Given the description of an element on the screen output the (x, y) to click on. 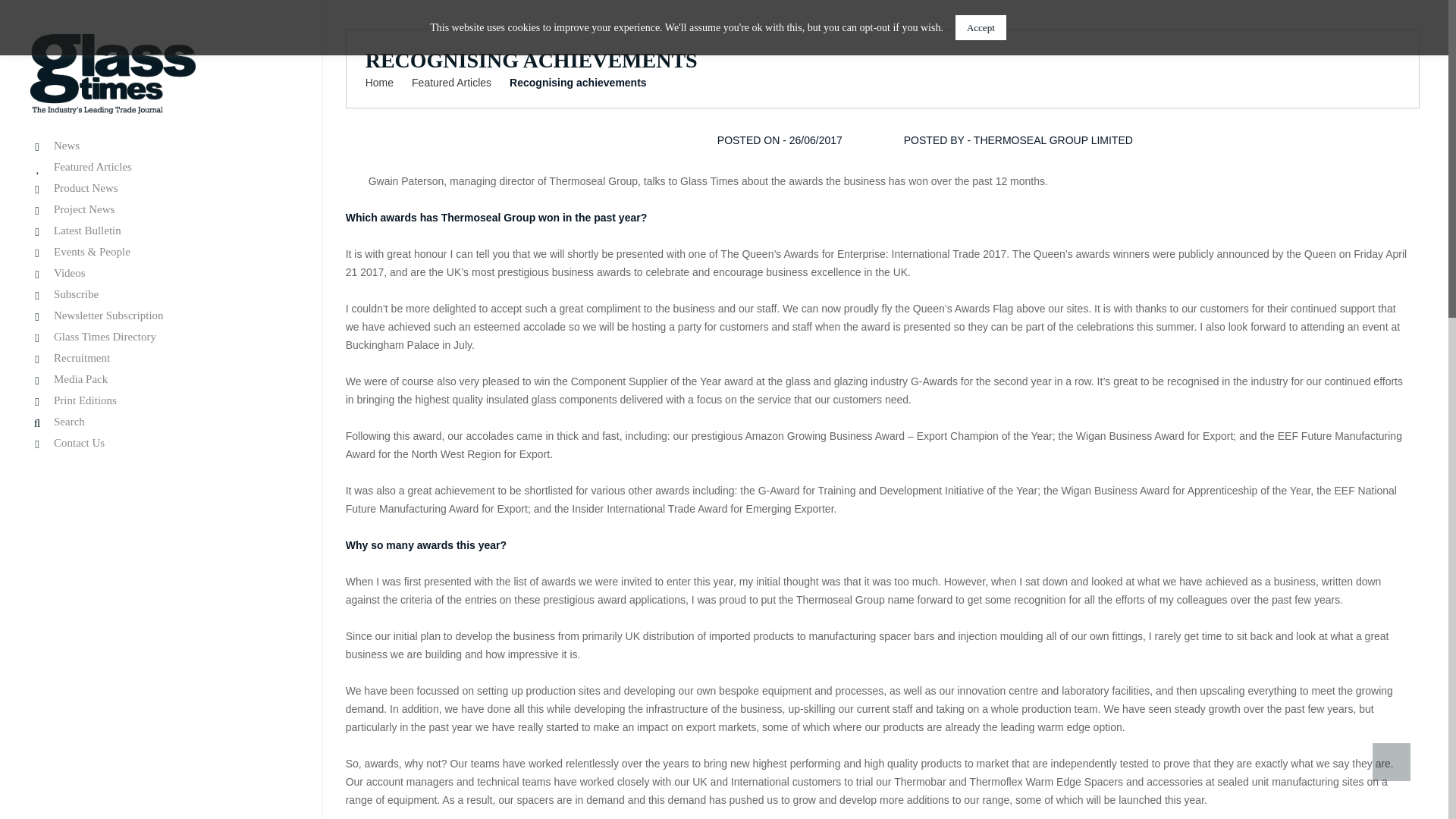
Print Editions (159, 400)
Subscribe (159, 294)
Glass Times - The industrys leading trade journal (112, 73)
Product News (159, 187)
Newsletter Subscription (159, 315)
News (159, 145)
Videos (159, 273)
Media Pack (159, 379)
Featured Articles (159, 166)
Project News (159, 209)
Contact Us (159, 442)
Search (159, 421)
Latest Bulletin (159, 230)
Glass Times Directory (159, 336)
Recruitment (159, 358)
